Given the description of an element on the screen output the (x, y) to click on. 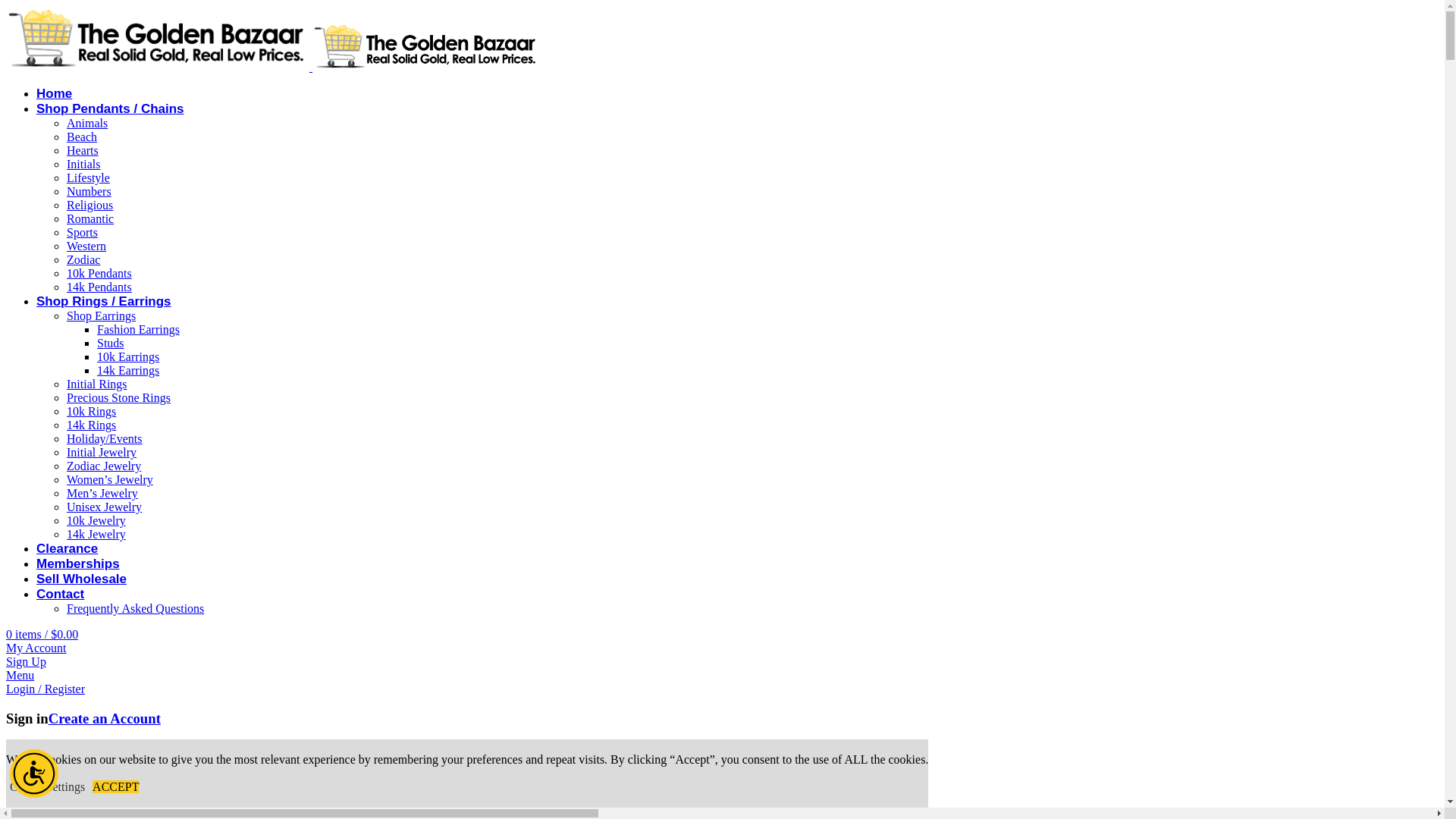
Initial Rings (97, 383)
Home (53, 93)
Beach (81, 136)
Hearts (82, 150)
Religious (89, 205)
14k Earrings (127, 369)
14k Pendants (99, 286)
Studs (110, 342)
Initials (83, 164)
10k Pendants (99, 273)
Fashion Earrings (138, 328)
10k Jewelry (95, 520)
Sports (81, 232)
14k Rings (91, 424)
14k Jewelry (95, 533)
